Given the description of an element on the screen output the (x, y) to click on. 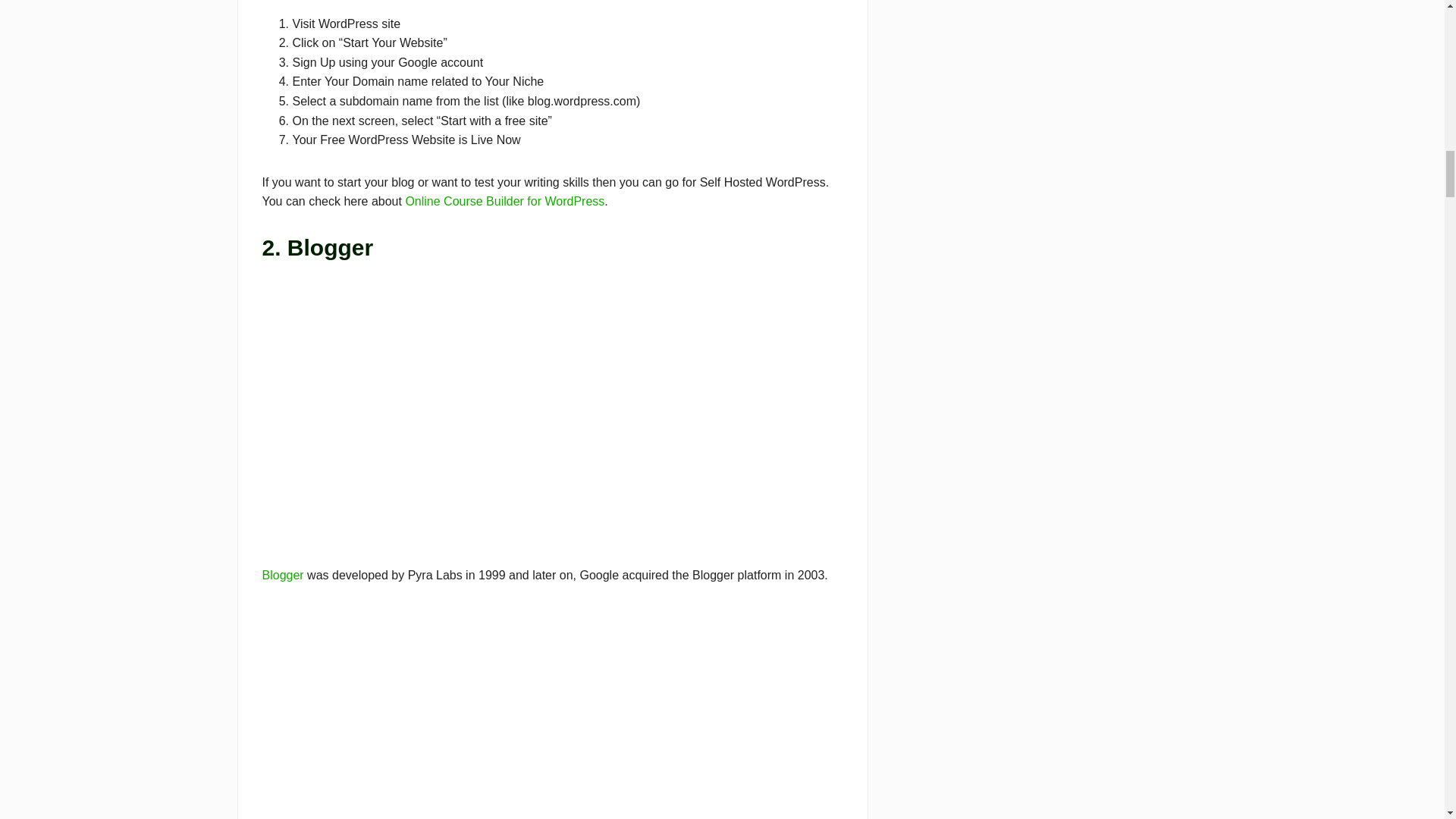
Online Course Builder for WordPress (504, 201)
Advertisement (552, 713)
Blogger (283, 574)
